Given the description of an element on the screen output the (x, y) to click on. 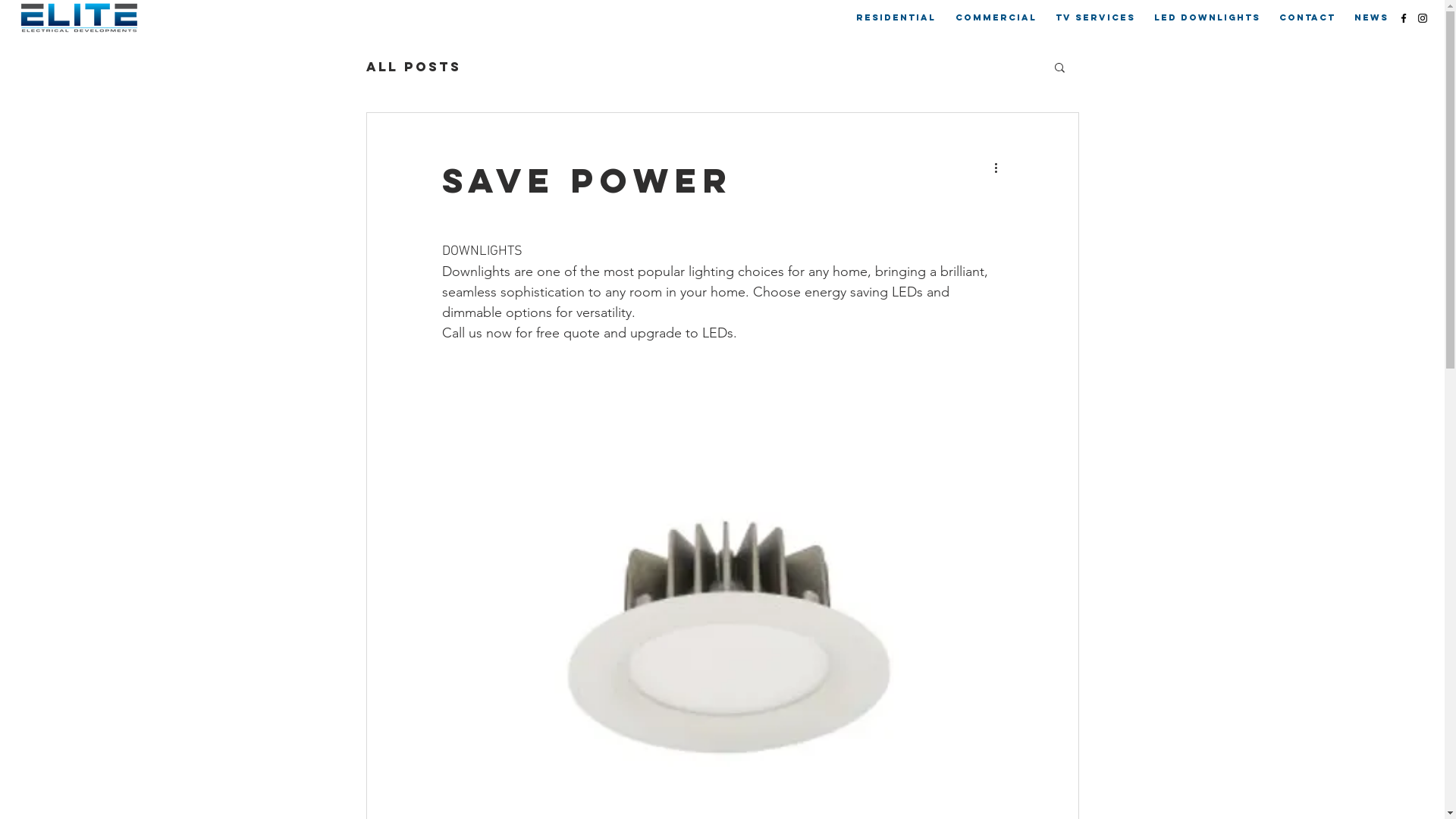
All Posts Element type: text (412, 66)
RESIDENTIAL Element type: text (895, 17)
COMMERCIAL Element type: text (995, 17)
LED DOWNLIGHTS Element type: text (1206, 17)
NEWS Element type: text (1370, 17)
CONTACT Element type: text (1306, 17)
TV SERVICES Element type: text (1094, 17)
